Given the description of an element on the screen output the (x, y) to click on. 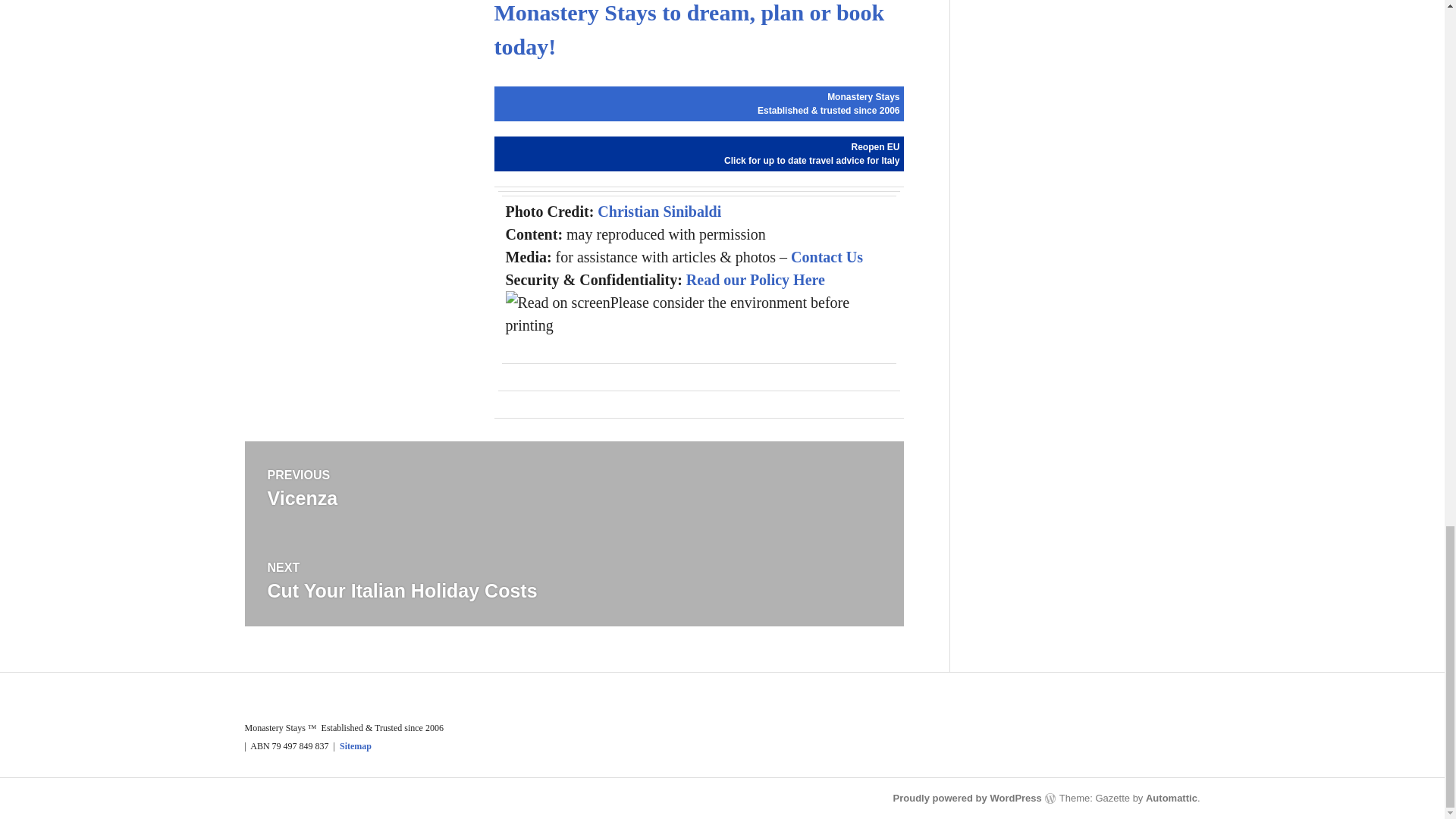
Read our Policy Here (811, 153)
Contact Us (755, 279)
Christian Sinibaldi (826, 256)
